Given the description of an element on the screen output the (x, y) to click on. 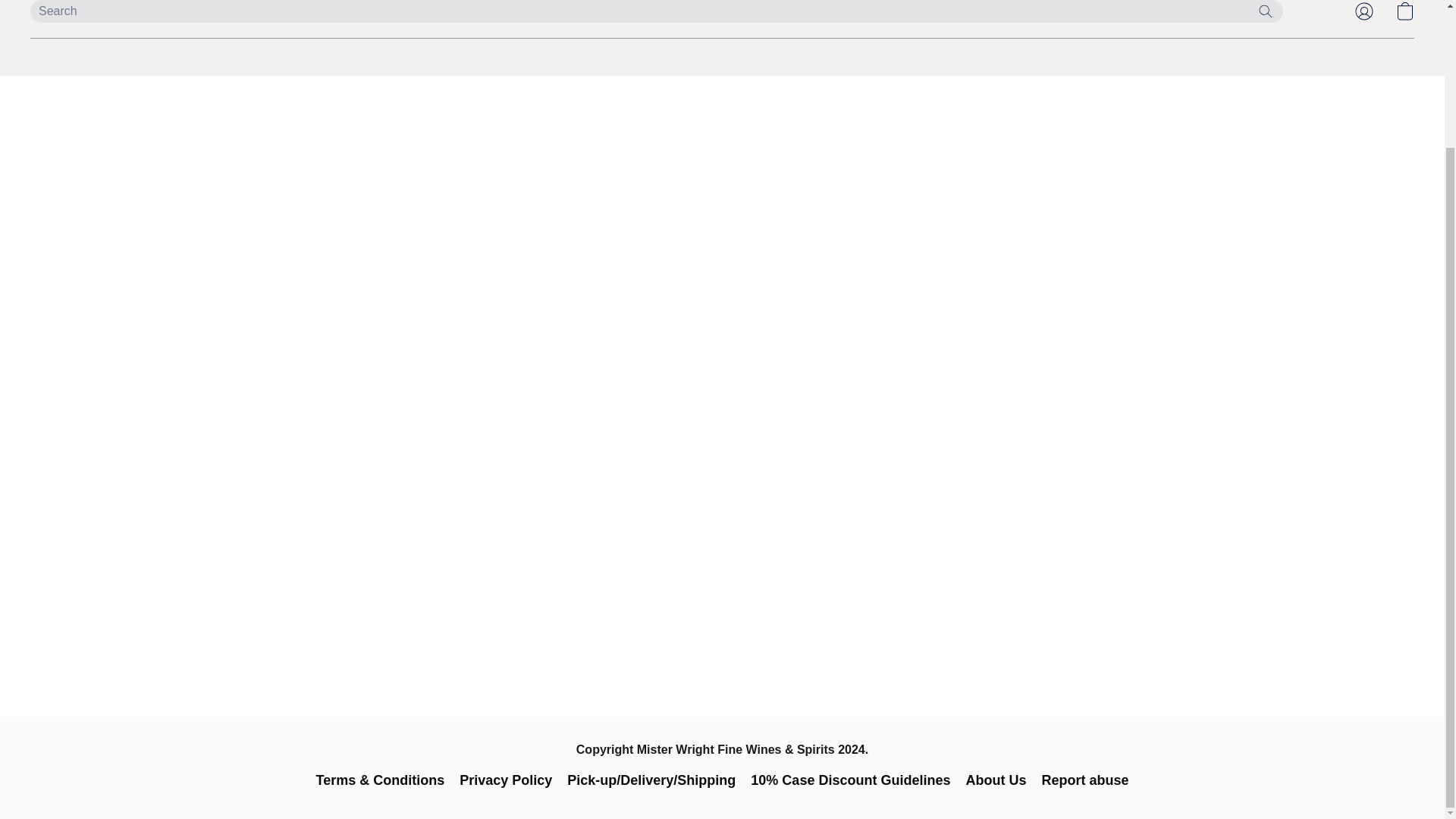
Go to your shopping cart (1404, 13)
Report abuse (1084, 780)
Privacy Policy (505, 780)
About Us (995, 780)
